Given the description of an element on the screen output the (x, y) to click on. 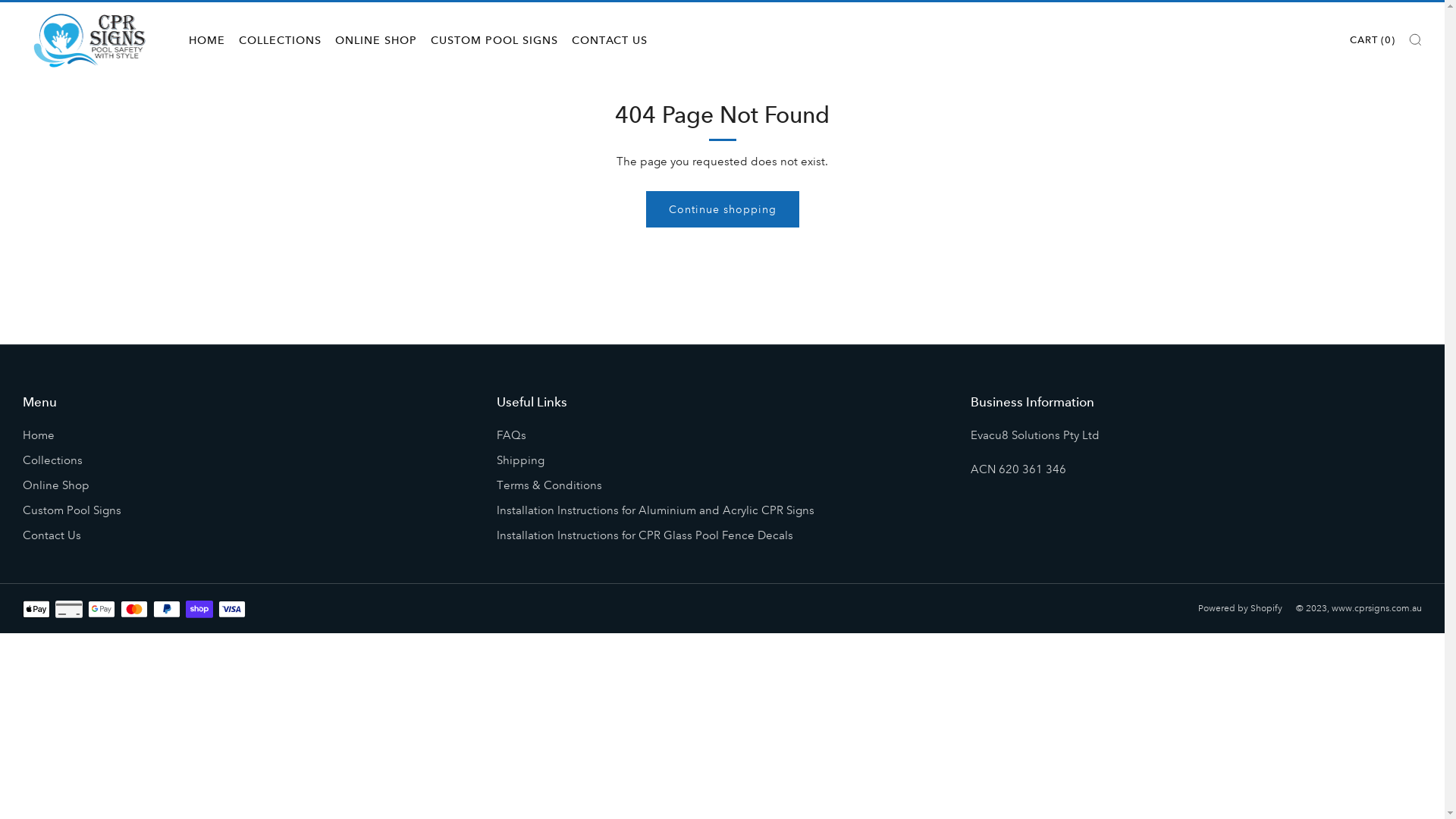
Custom Pool Signs Element type: text (71, 510)
CUSTOM POOL SIGNS Element type: text (494, 39)
CART (0) Element type: text (1372, 39)
Shipping Element type: text (520, 460)
Online Shop Element type: text (55, 485)
FAQs Element type: text (511, 435)
HOME Element type: text (206, 39)
COLLECTIONS Element type: text (279, 39)
Collections Element type: text (52, 460)
ONLINE SHOP Element type: text (376, 39)
CONTACT US Element type: text (609, 39)
Installation Instructions for CPR Glass Pool Fence Decals Element type: text (644, 535)
Continue shopping Element type: text (722, 209)
Powered by Shopify Element type: text (1240, 608)
Home Element type: text (38, 435)
Contact Us Element type: text (51, 535)
Terms & Conditions Element type: text (549, 485)
